Given the description of an element on the screen output the (x, y) to click on. 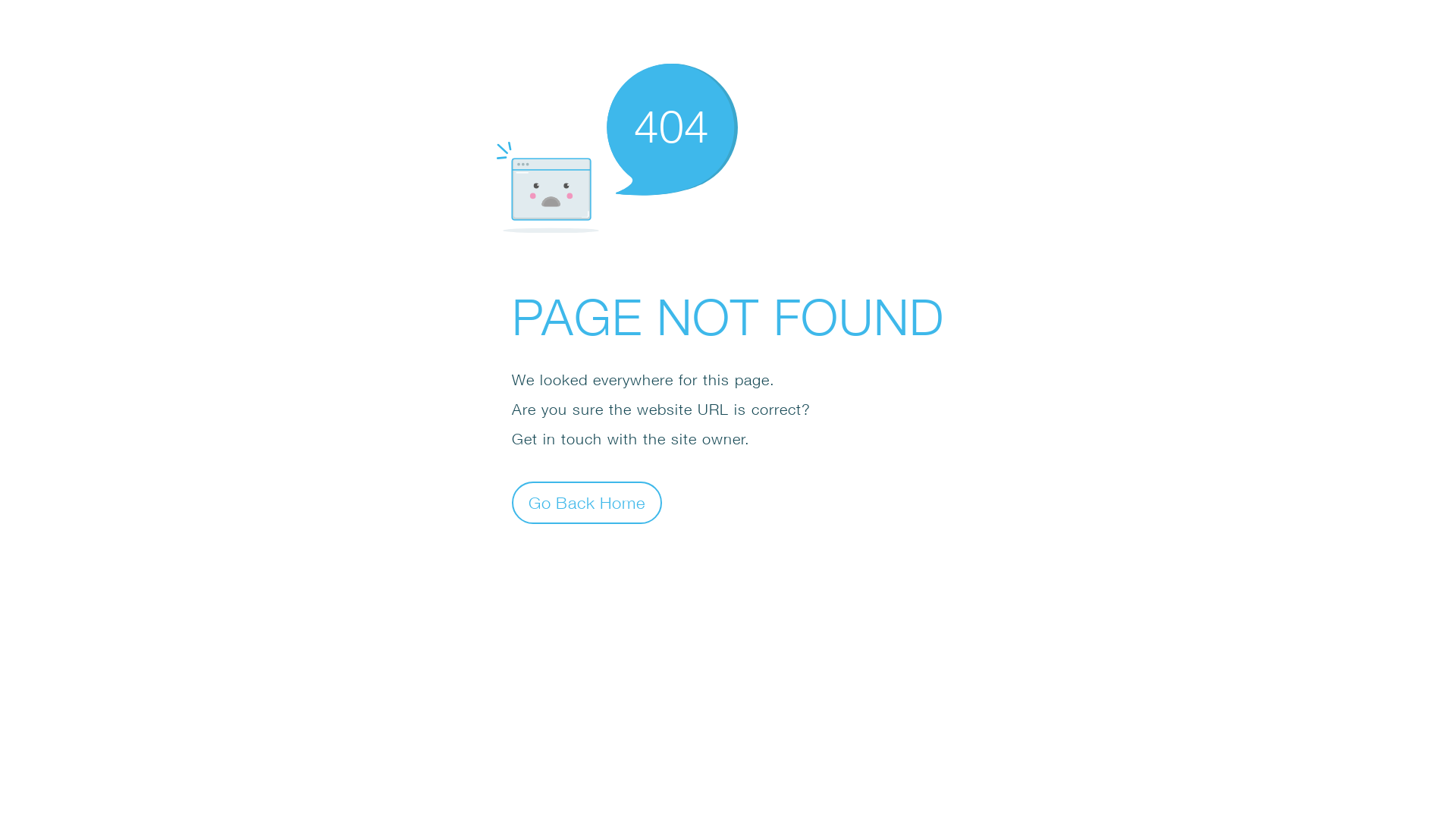
Go Back Home Element type: text (586, 502)
